Given the description of an element on the screen output the (x, y) to click on. 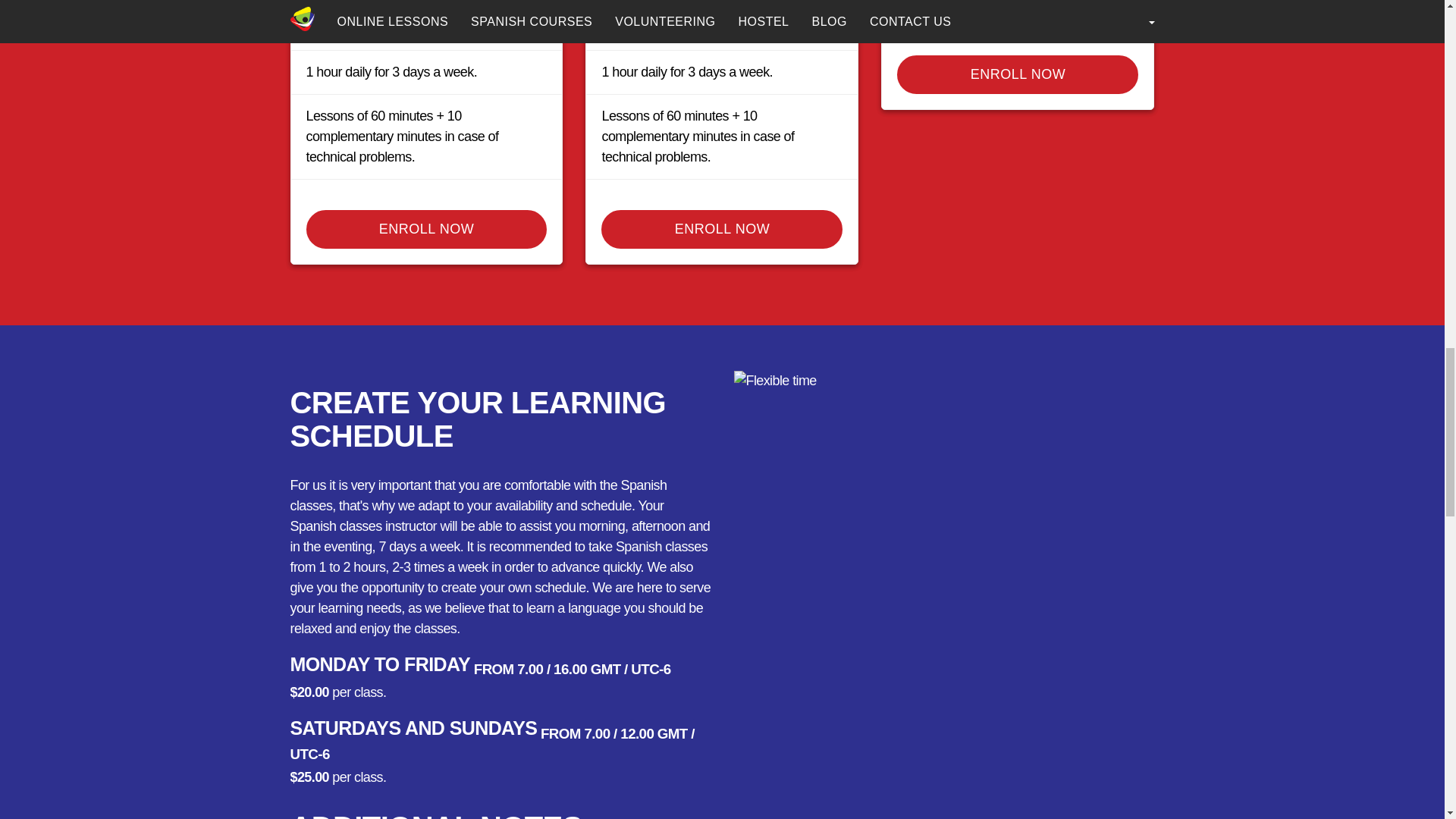
ENROLL NOW (426, 228)
ENROLL NOW (722, 228)
ENROLL NOW (1017, 73)
